Given the description of an element on the screen output the (x, y) to click on. 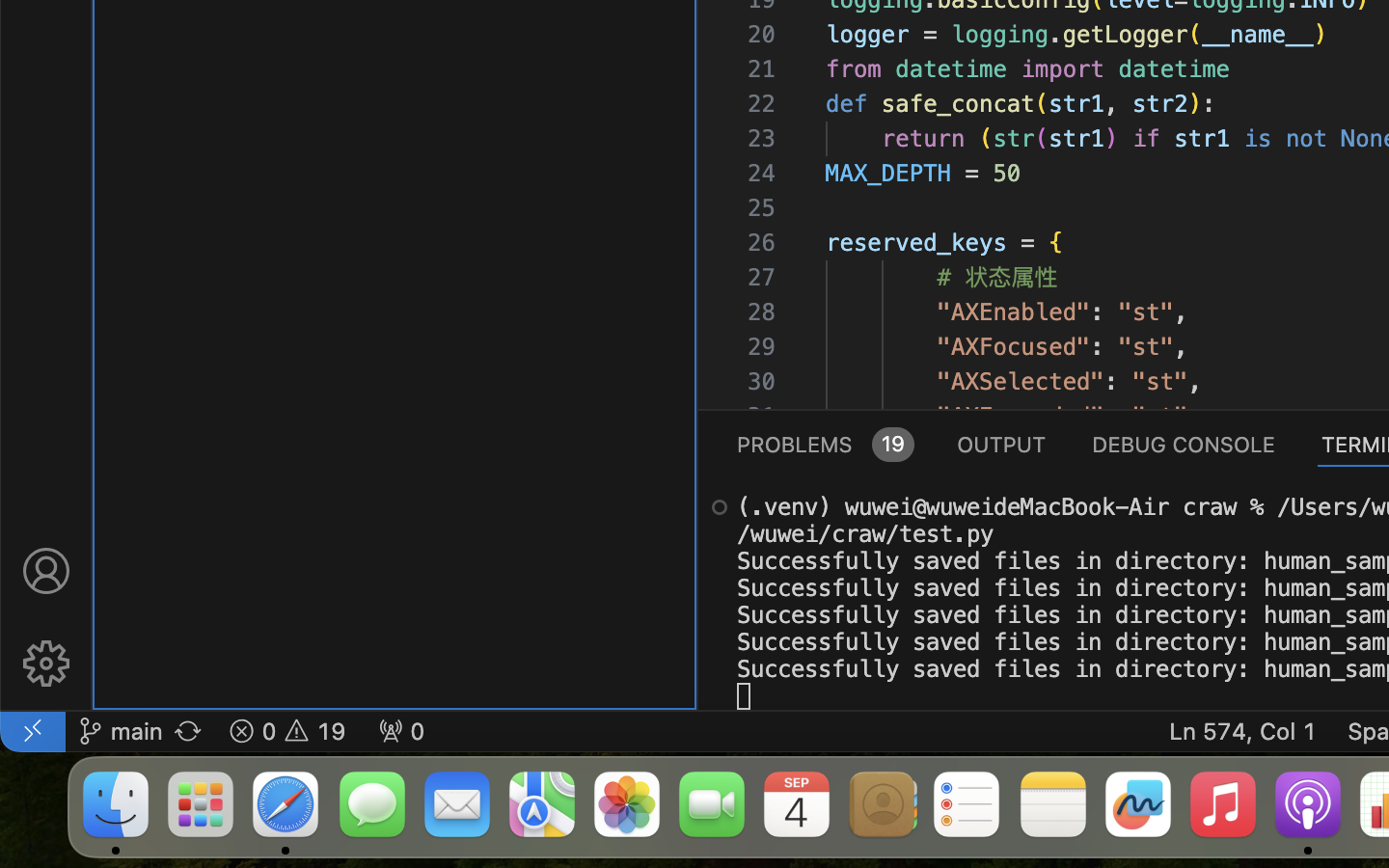
19  0  Element type: AXButton (286, 730)
main  Element type: AXButton (120, 730)
 Element type: AXGroup (46, 570)
 Element type: AXStaticText (46, 663)
